Given the description of an element on the screen output the (x, y) to click on. 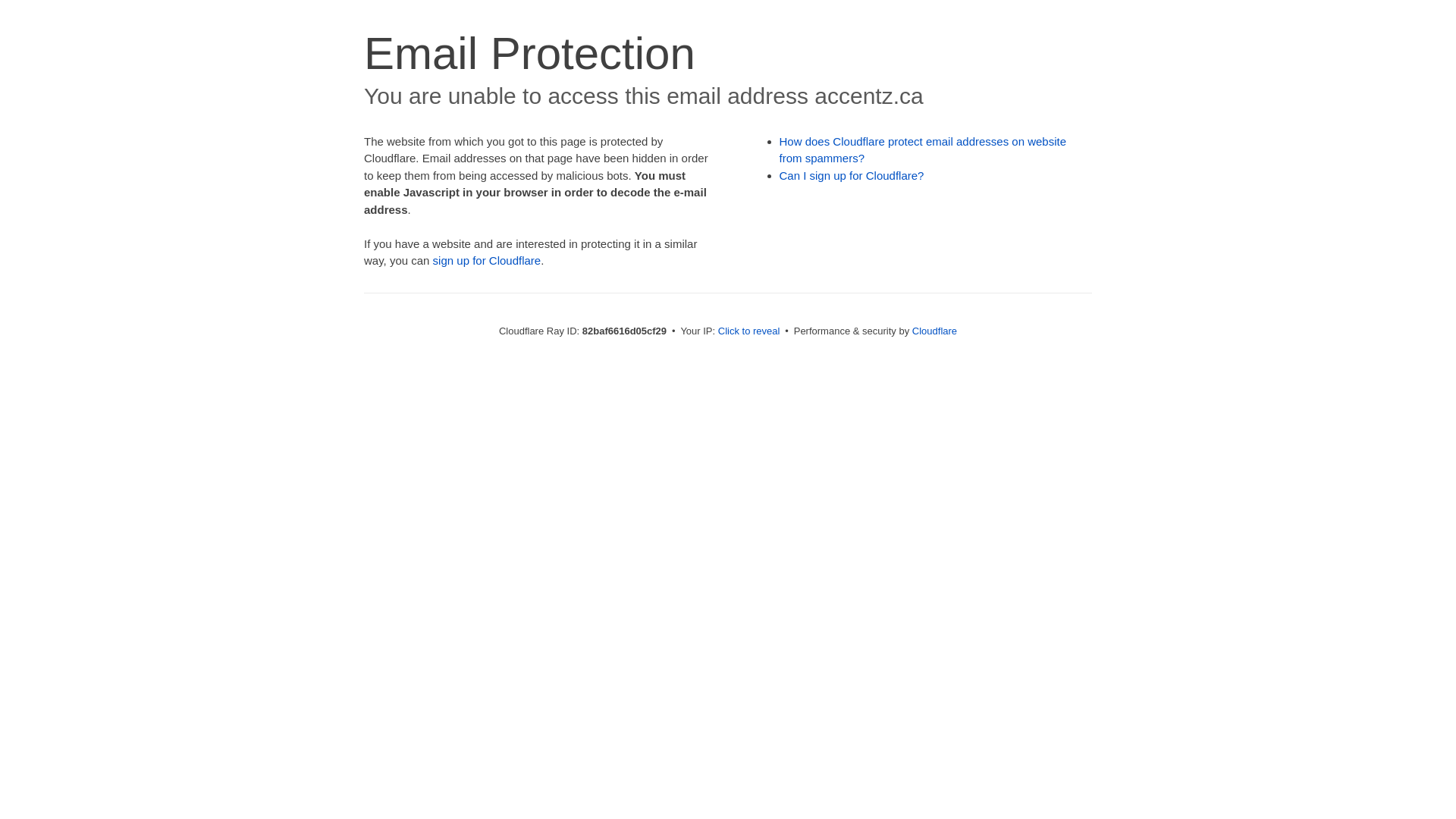
Cloudflare Element type: text (934, 330)
sign up for Cloudflare Element type: text (487, 260)
Can I sign up for Cloudflare? Element type: text (851, 175)
Click to reveal Element type: text (749, 330)
